Given the description of an element on the screen output the (x, y) to click on. 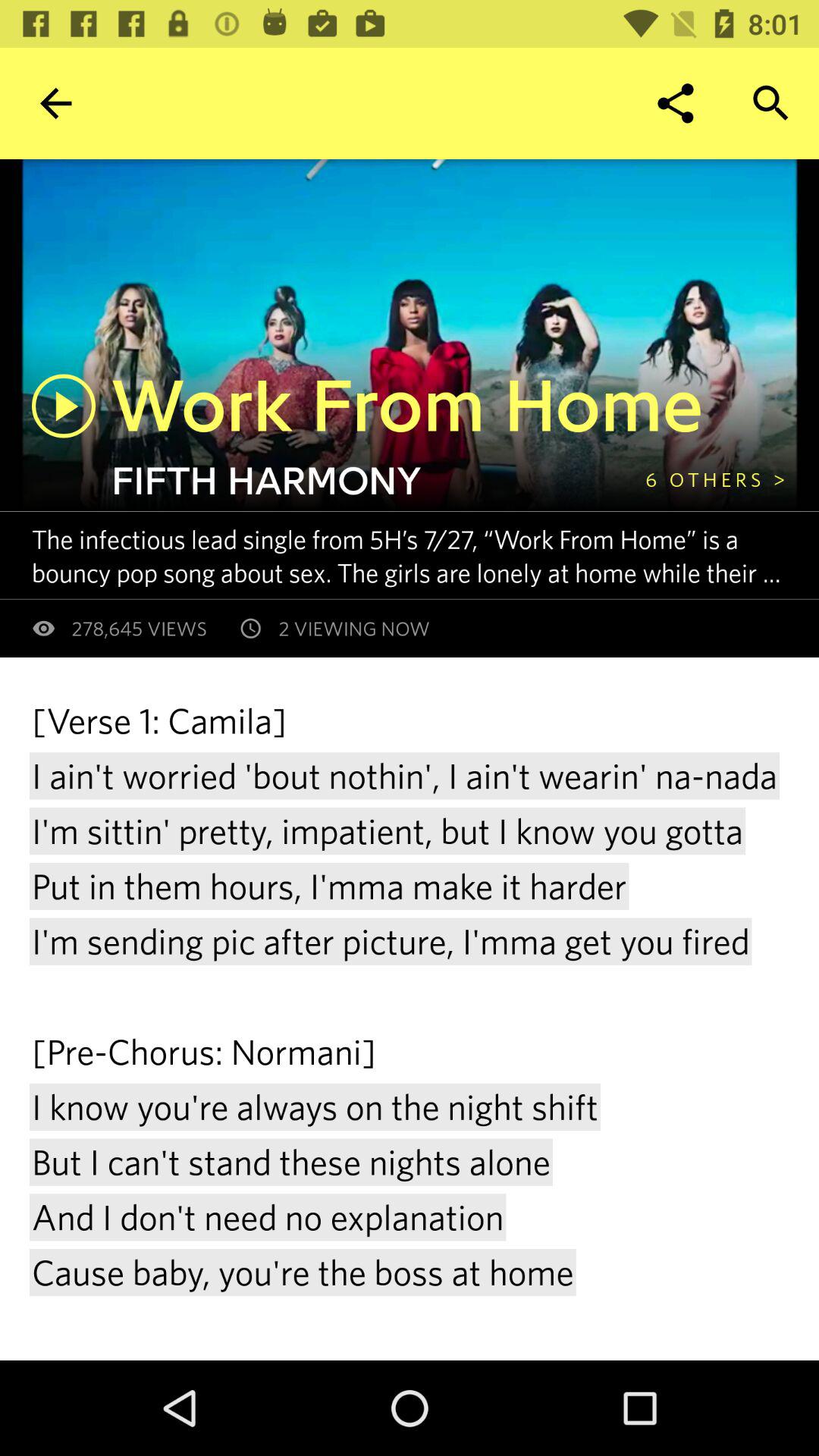
switch play option (63, 405)
